Given the description of an element on the screen output the (x, y) to click on. 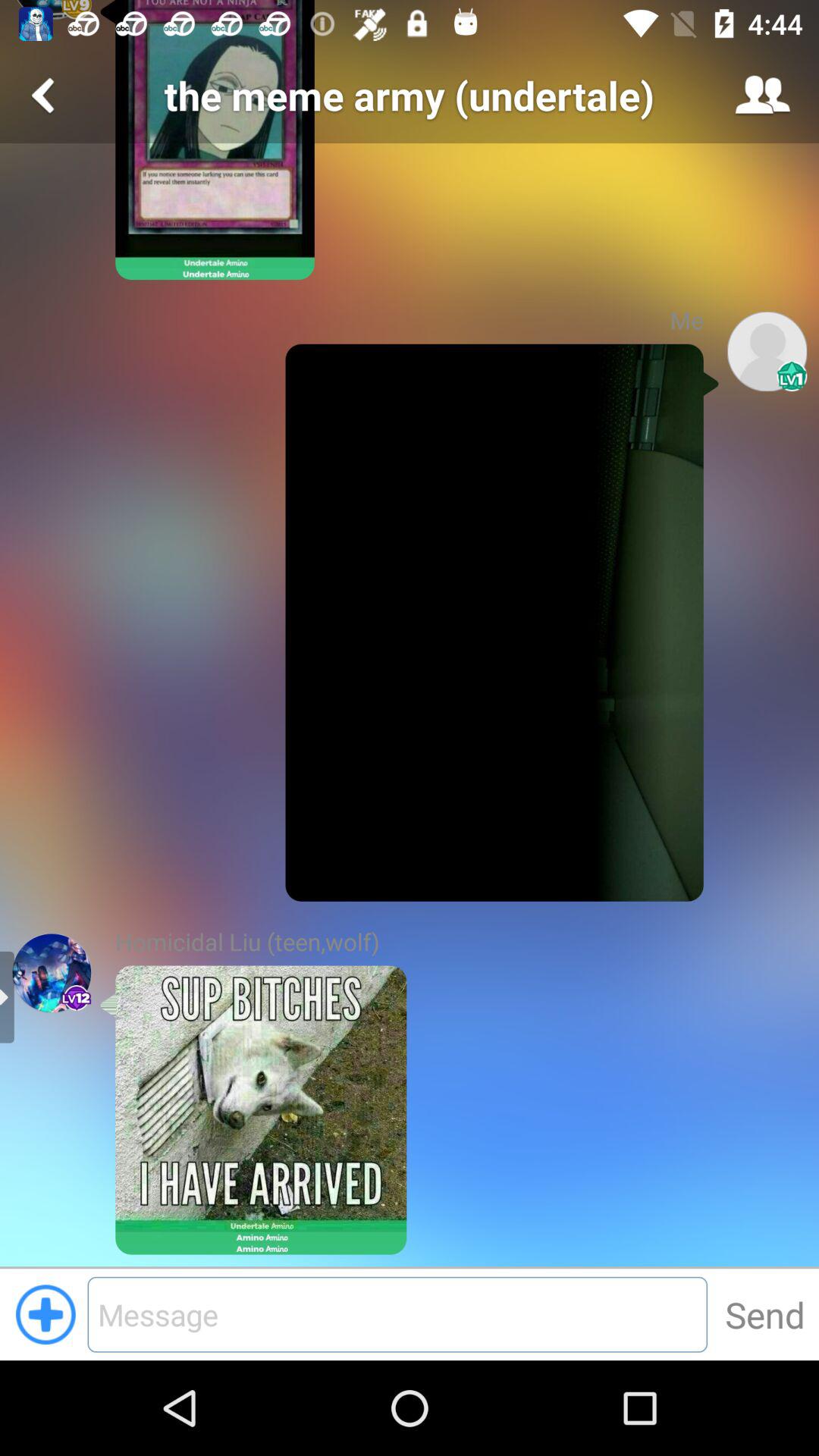
click on the button beside text field (764, 1314)
click on the profile icon at right side (766, 351)
click on the message field (397, 1314)
